Given the description of an element on the screen output the (x, y) to click on. 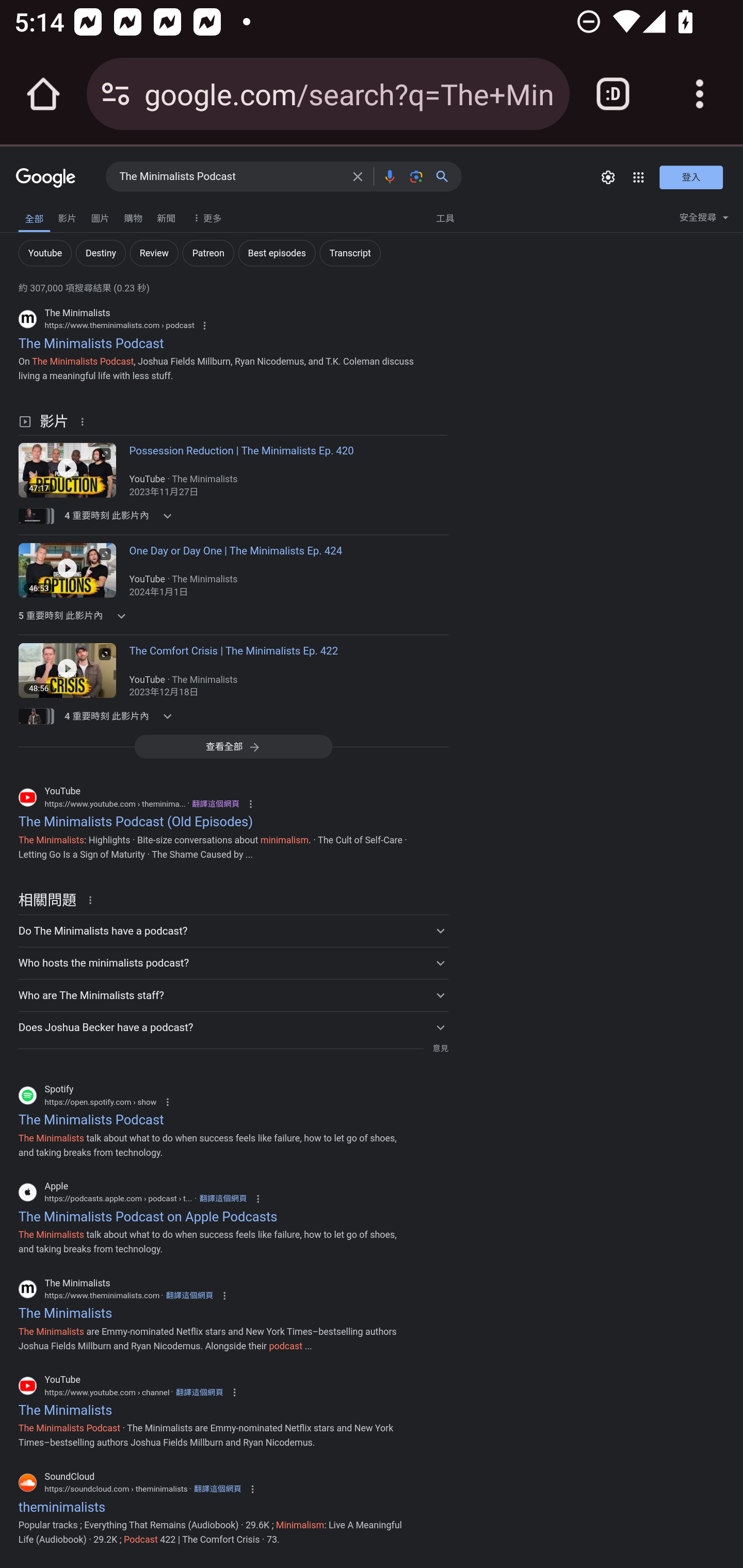
Open the home page (43, 93)
Connection is secure (115, 93)
Switch or close tabs (612, 93)
Customize and control Google Chrome (699, 93)
 清除 (357, 176)
語音搜尋 (389, 176)
以圖搜尋 (415, 176)
搜尋  (446, 176)
設定 (608, 176)
Google 應用程式 (638, 176)
登入 (690, 176)
Google (45, 178)
The Minimalists Podcast (229, 177)
無障礙功能意見 (42, 212)
影片 (67, 216)
圖片 (99, 216)
購物 (133, 216)
新聞 (166, 216)
更多 (205, 216)
安全搜尋 (703, 219)
工具 (444, 216)
新增Youtube Youtube (44, 252)
新增Destiny Destiny (100, 252)
新增Review Review (153, 252)
新增Patreon Patreon (207, 252)
新增Best episodes Best episodes (276, 252)
新增Transcript Transcript (349, 252)
關於此結果 (85, 420)
4 重要時刻  此影片內 (123, 515)
5 重要時刻  此影片內 (123, 616)
4 重要時刻  此影片內 (123, 716)
查看全部 (233, 745)
翻譯這個網頁 (214, 804)
關於此結果 (93, 899)
Do The Minimalists have a podcast? (232, 930)
Who hosts the minimalists podcast? (232, 962)
Who are The Minimalists staff? (232, 994)
Does Joshua Becker have a podcast? (232, 1026)
意見 (439, 1047)
翻譯這個網頁 (223, 1198)
翻譯這個網頁 (188, 1294)
翻譯這個網頁 (199, 1392)
翻譯這個網頁 (217, 1489)
